Given the description of an element on the screen output the (x, y) to click on. 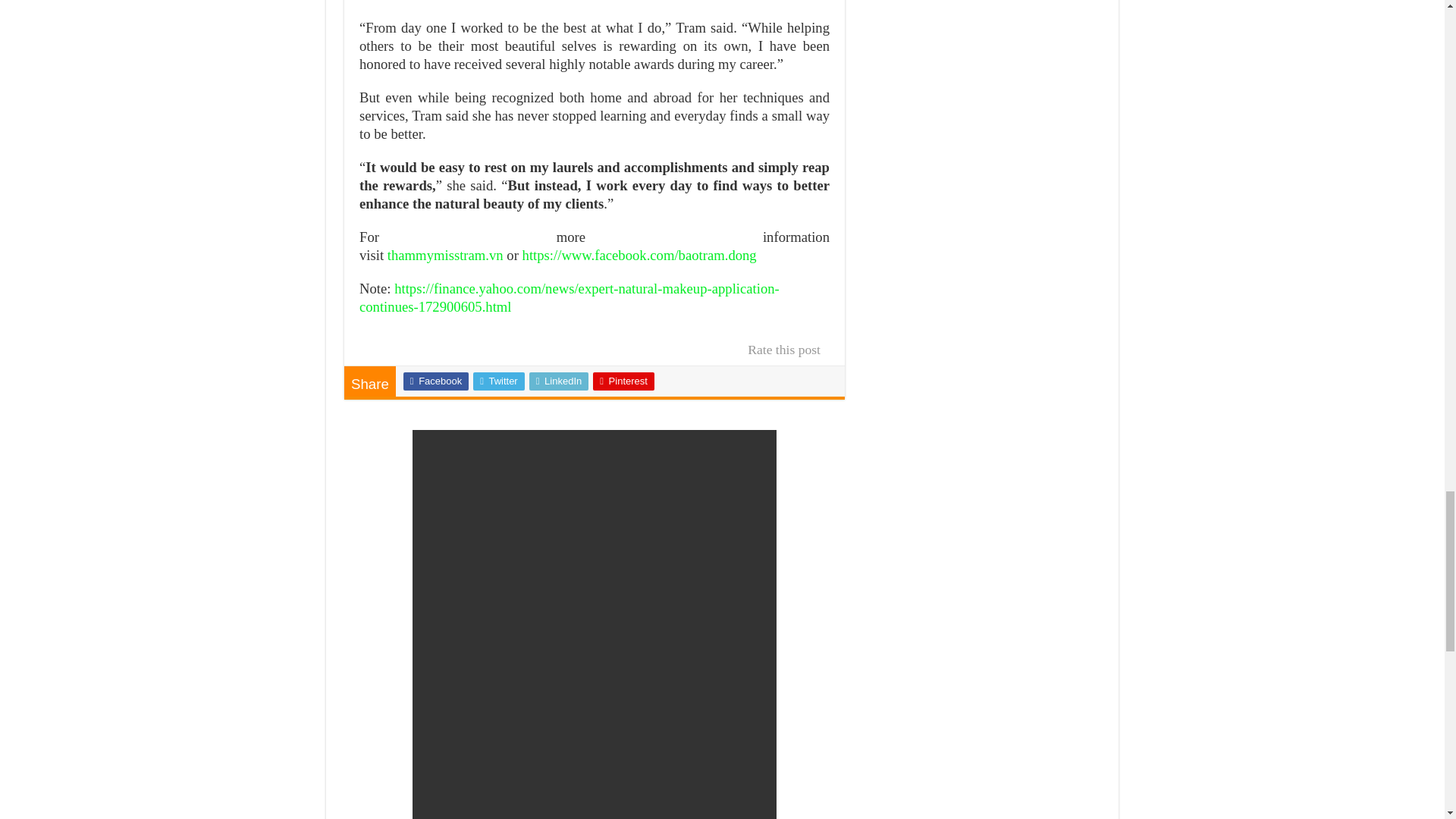
thammymisstram.vn (445, 254)
